Given the description of an element on the screen output the (x, y) to click on. 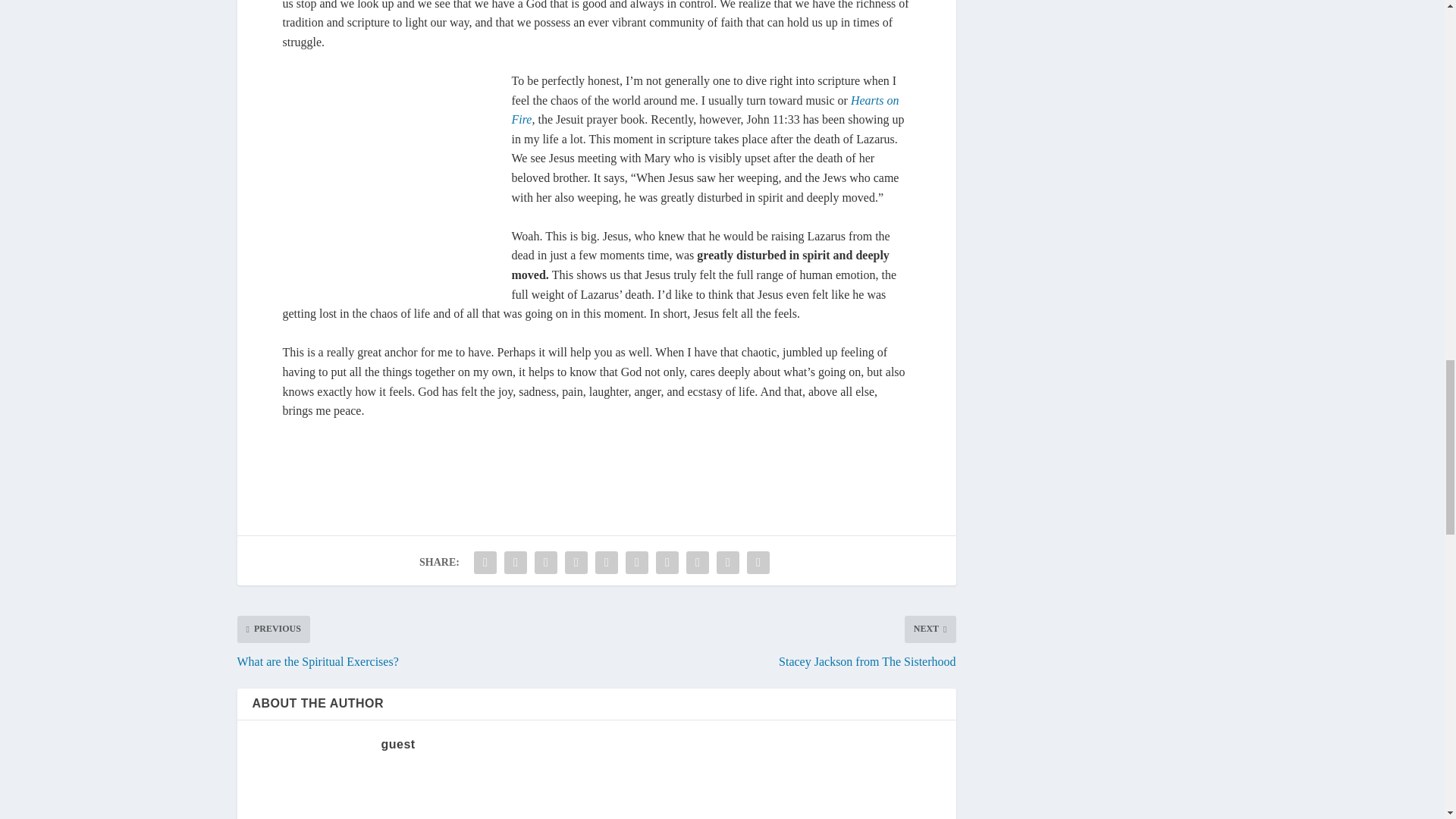
Share "Some Assembly Required" via Twitter (515, 682)
Share "Some Assembly Required" via Pinterest (606, 682)
Share "Some Assembly Required" via Stumbleupon (697, 682)
Share "Some Assembly Required" via Print (757, 682)
Share "Some Assembly Required" via LinkedIn (636, 682)
Share "Some Assembly Required" via Email (727, 682)
Share "Some Assembly Required" via Tumblr (575, 682)
Share "Some Assembly Required" via Facebook (485, 682)
Share "Some Assembly Required" via Buffer (667, 682)
